Given the description of an element on the screen output the (x, y) to click on. 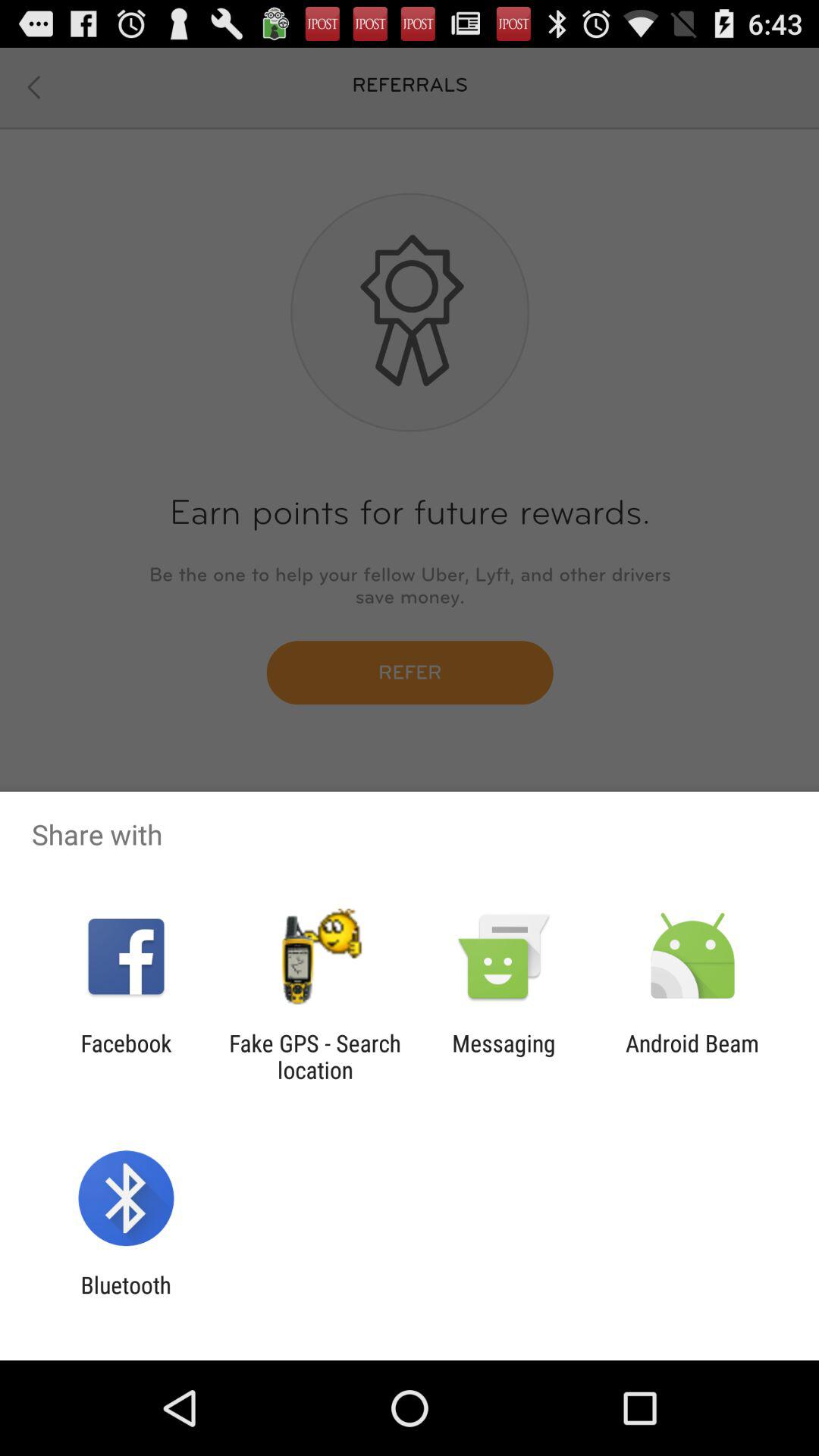
turn off the icon to the right of the messaging icon (692, 1056)
